Given the description of an element on the screen output the (x, y) to click on. 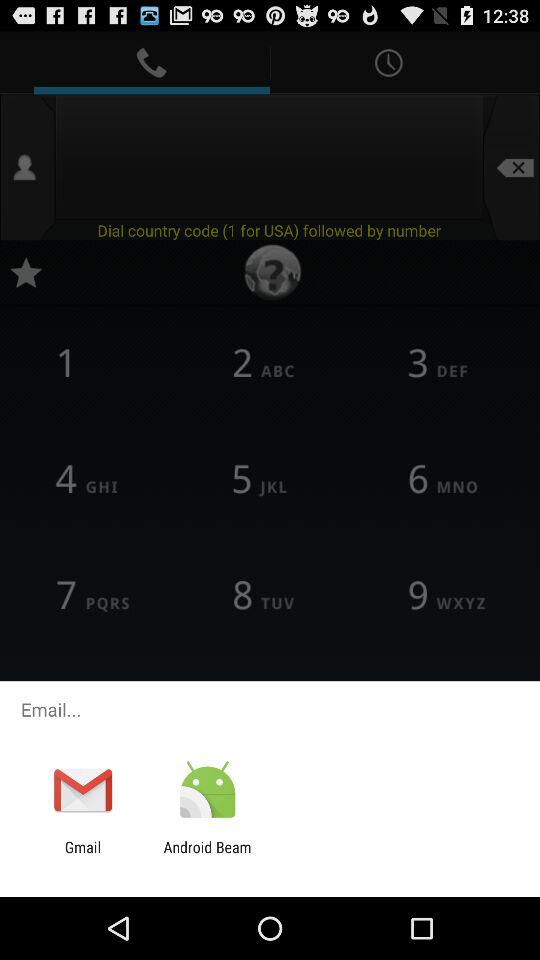
click item next to the android beam app (82, 856)
